Given the description of an element on the screen output the (x, y) to click on. 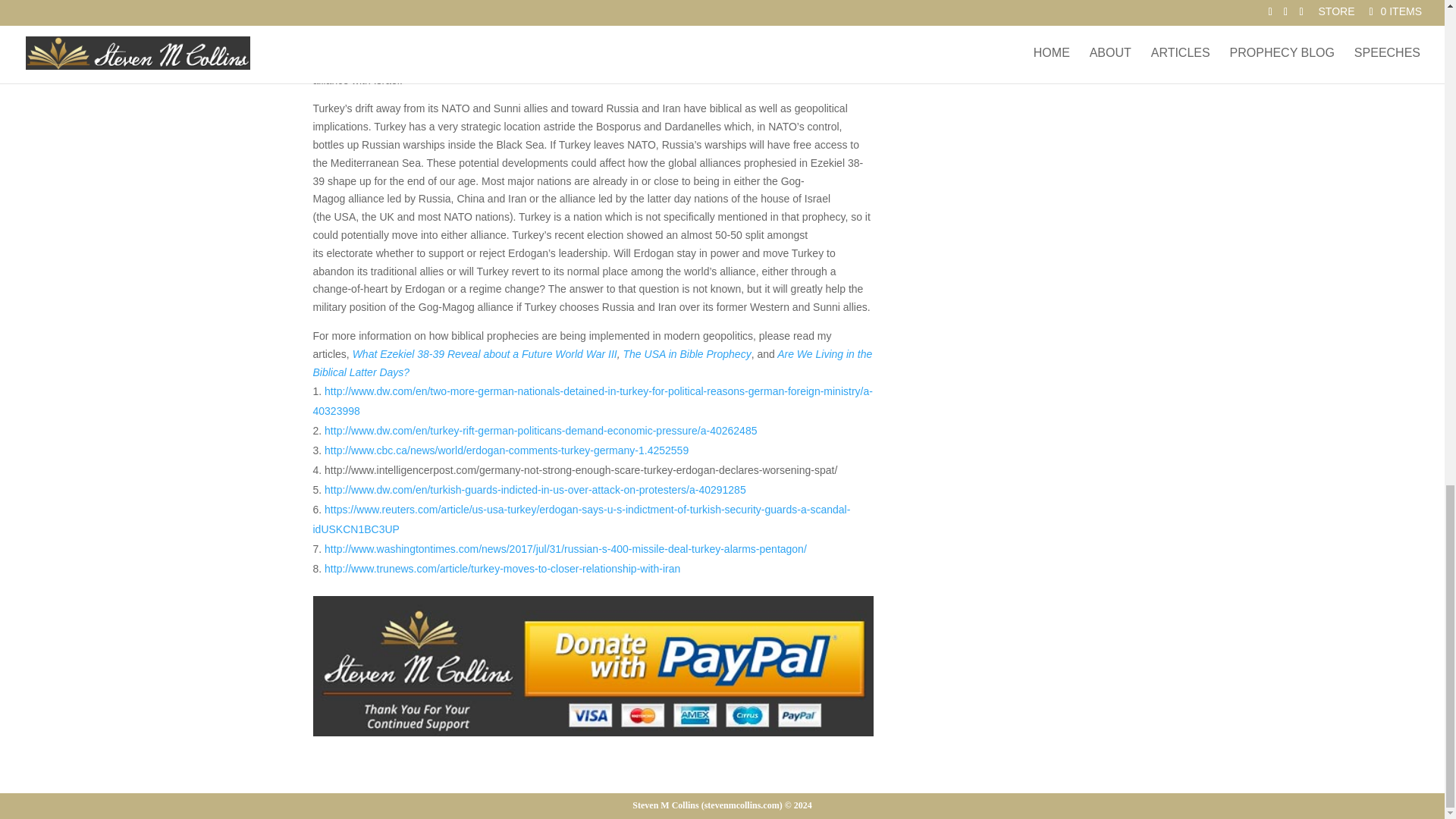
What Ezekiel 38-39 Reveal about a Future World War III (484, 354)
Are We Living in the Biblical Latter Days? (592, 363)
The USA in Bible Prophecy (687, 354)
